Given the description of an element on the screen output the (x, y) to click on. 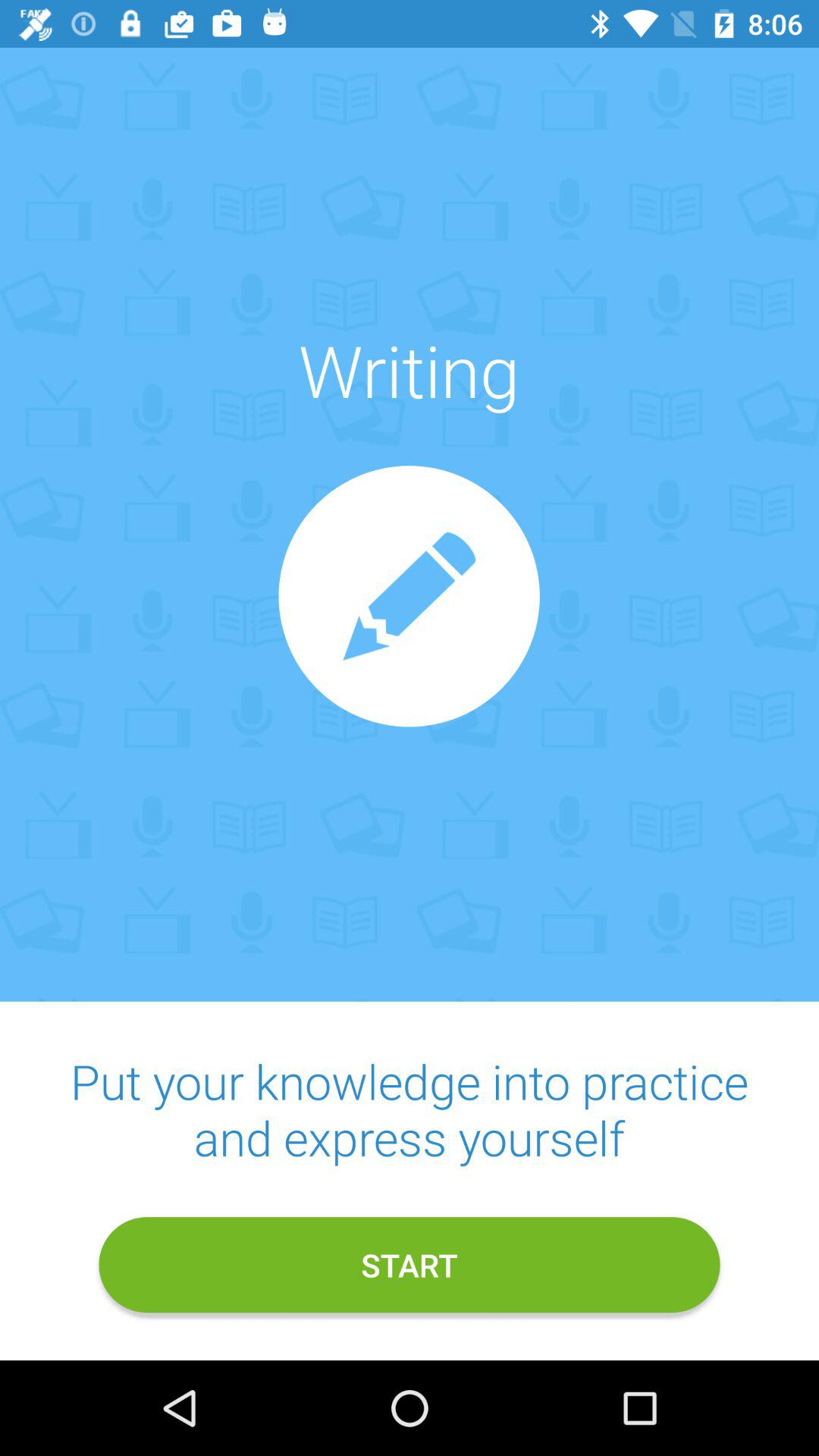
turn off the start (409, 1264)
